Given the description of an element on the screen output the (x, y) to click on. 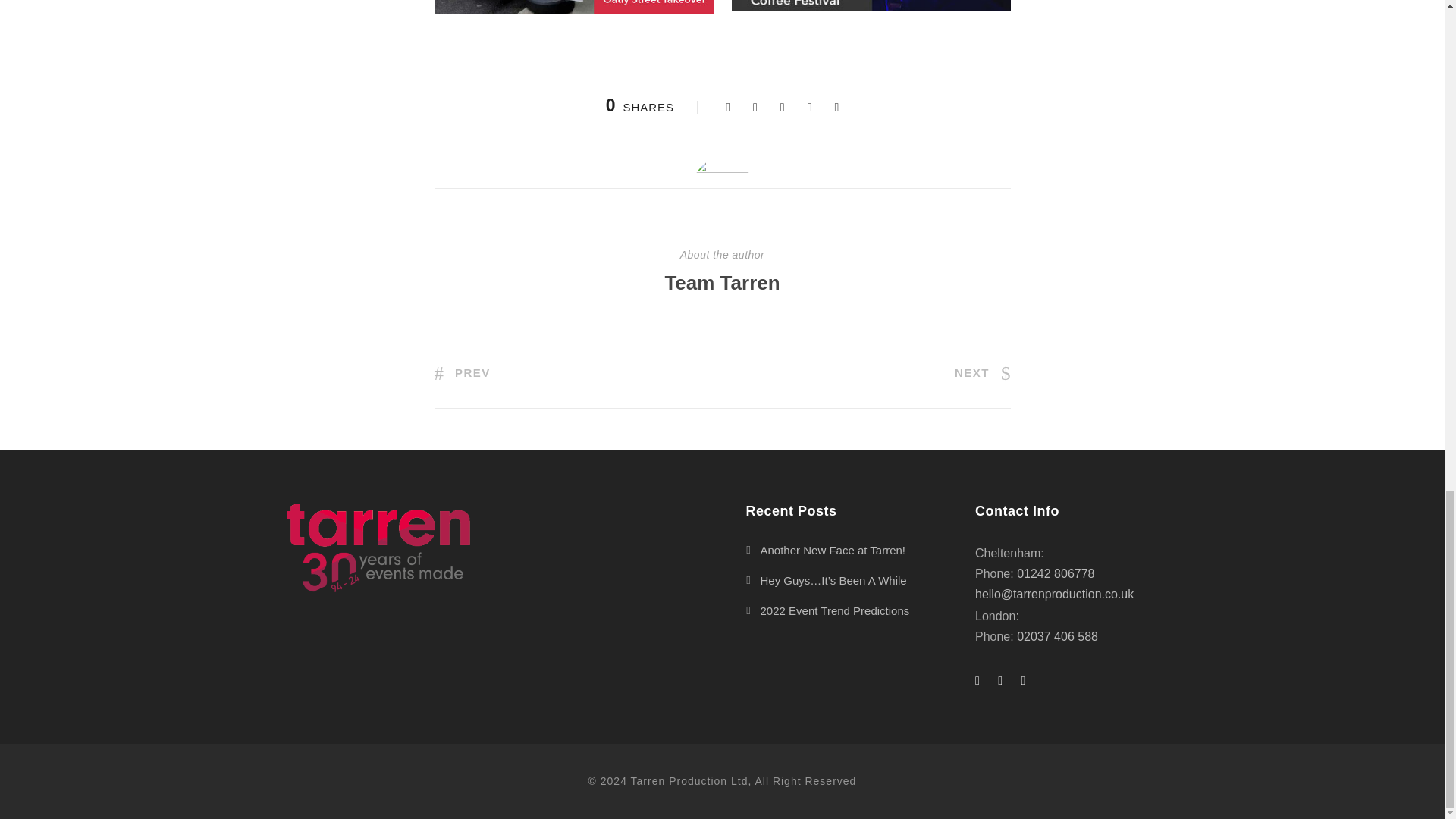
Team Tarren (720, 282)
PREV (461, 372)
02037 406 588 (1056, 635)
Posts by Team Tarren (720, 282)
01242 806778 (1055, 573)
Another New Face at Tarren! (832, 549)
2022 Event Trend Predictions (834, 610)
NEXT (982, 372)
